Given the description of an element on the screen output the (x, y) to click on. 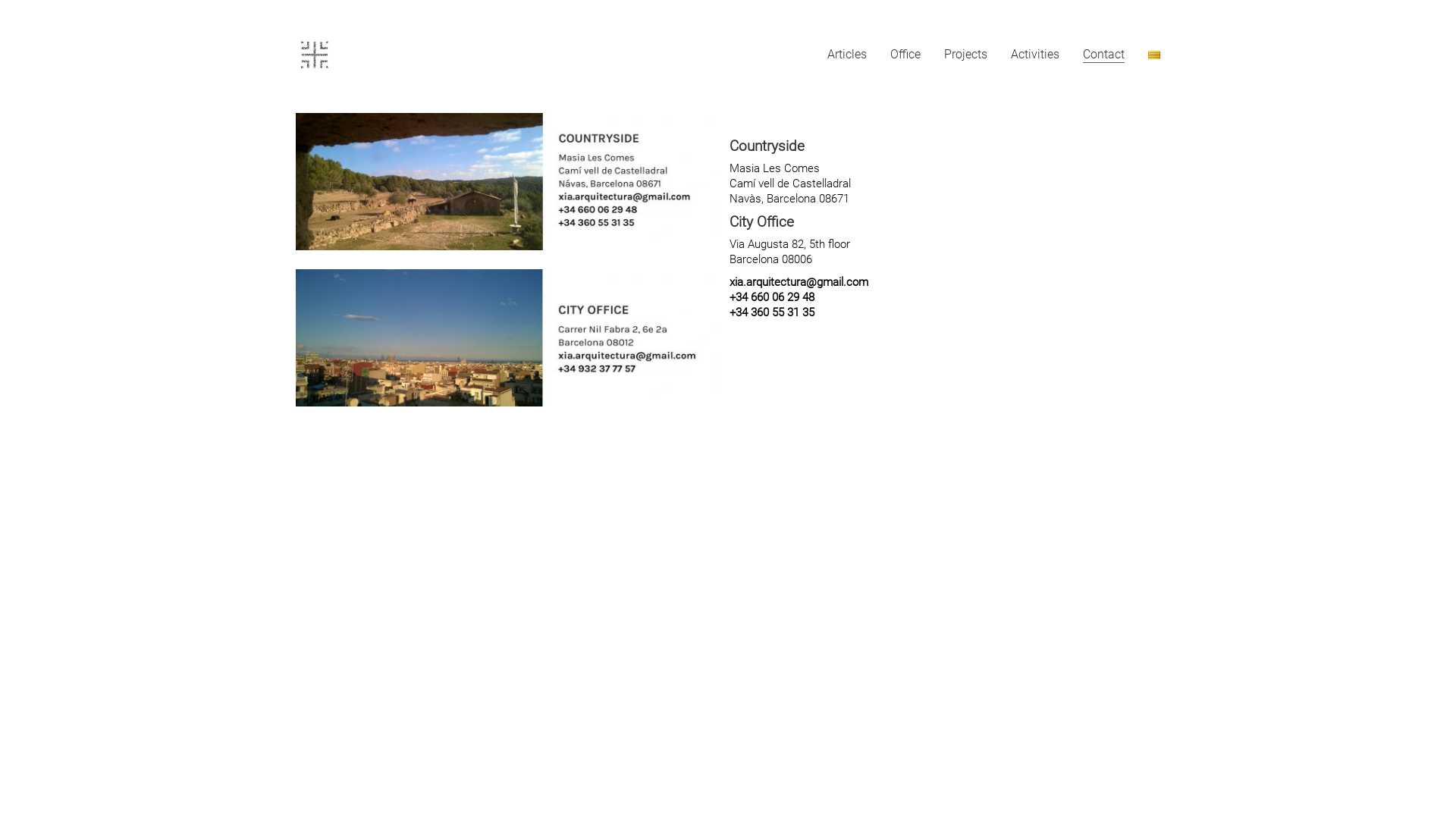
Projects Element type: text (965, 54)
Office Element type: text (905, 54)
Articles Element type: text (846, 54)
Activities Element type: text (1034, 54)
Contact Element type: text (1103, 54)
